Given the description of an element on the screen output the (x, y) to click on. 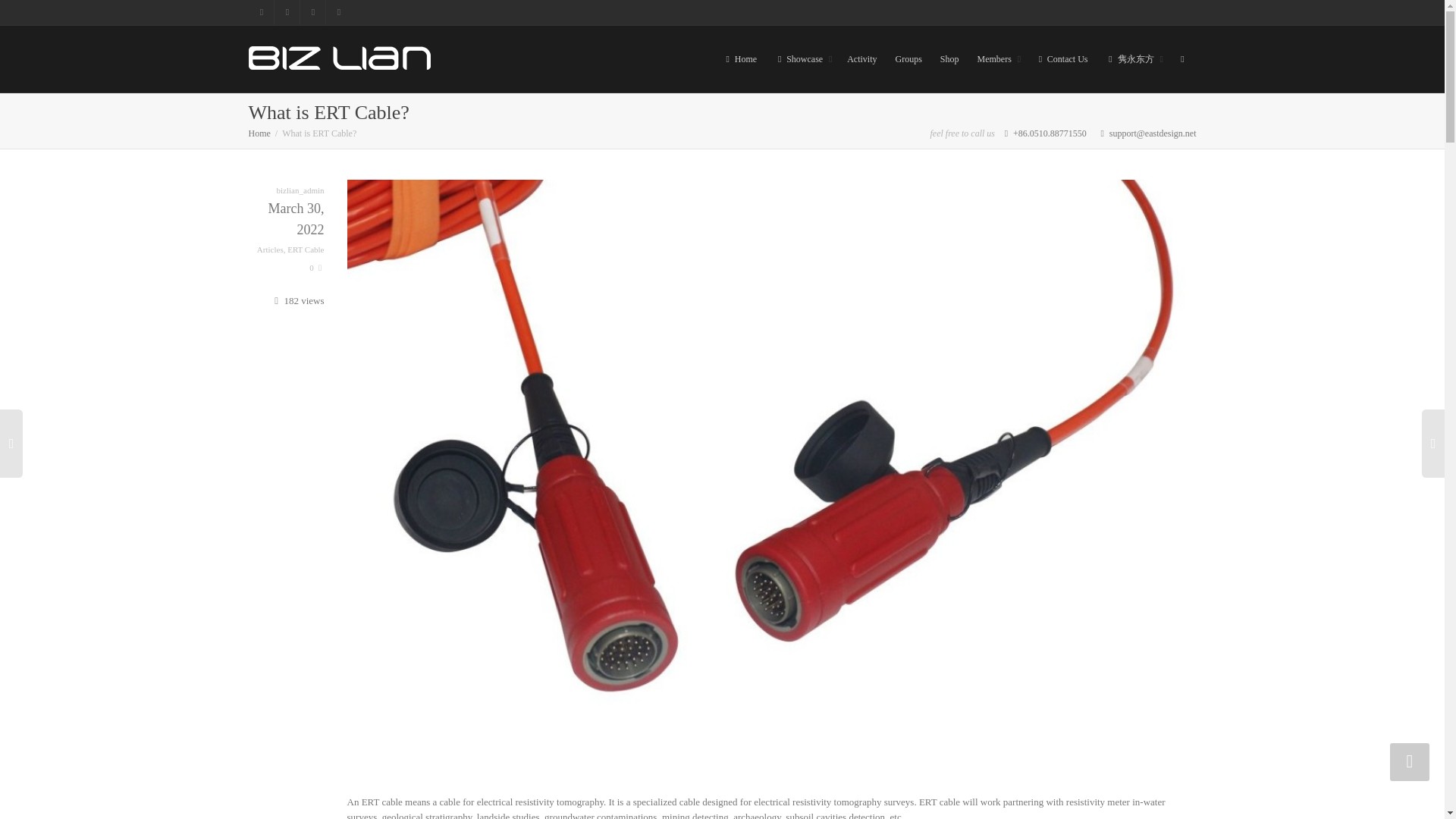
Home (259, 132)
Articles (270, 248)
ERT Cable (304, 248)
March 30, 2022 (286, 230)
0 (315, 266)
